Given the description of an element on the screen output the (x, y) to click on. 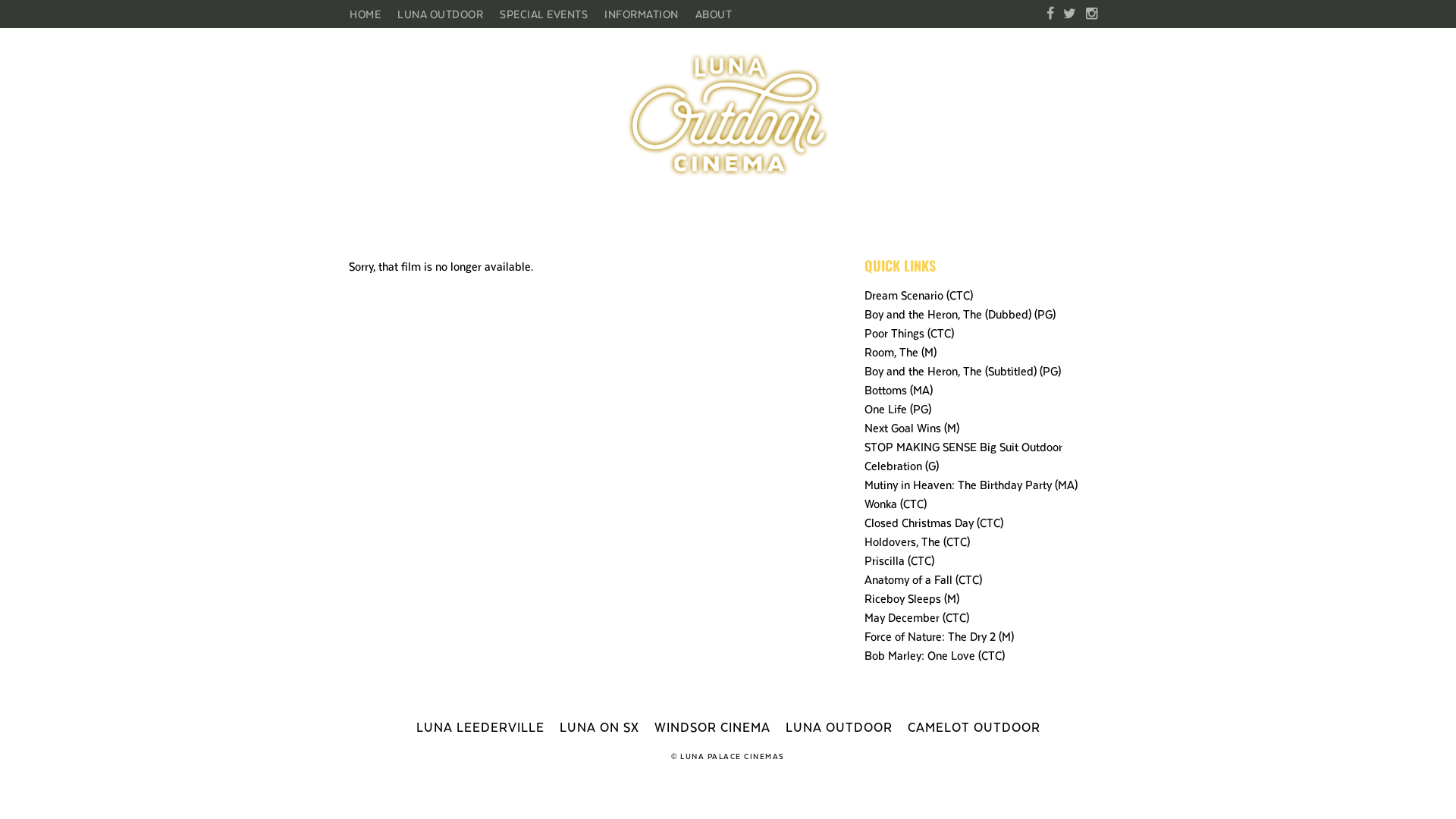
Force of Nature: The Dry 2 Element type: text (929, 635)
May December Element type: text (901, 616)
WINDSOR CINEMA Element type: text (711, 726)
Next Goal Wins Element type: text (902, 426)
Boy and the Heron, The (Subtitled) Element type: text (950, 369)
STOP MAKING SENSE Big Suit Outdoor Celebration Element type: text (963, 455)
Bottoms Element type: text (885, 388)
LUNA OUTDOOR Element type: text (839, 726)
Follow us on Instagram Element type: hover (1091, 13)
LUNA ON SX Element type: text (599, 726)
SPECIAL EVENTS Element type: text (543, 13)
Wonka Element type: text (880, 502)
Riceboy Sleeps Element type: text (902, 597)
HOME Element type: text (369, 13)
Follow us on Facebook Element type: hover (1049, 13)
One Life Element type: text (885, 407)
ABOUT Element type: text (713, 13)
Poor Things Element type: text (894, 332)
Anatomy of a Fall Element type: text (908, 578)
Mutiny in Heaven: The Birthday Party Element type: text (957, 483)
INFORMATION Element type: text (641, 13)
Priscilla Element type: text (884, 559)
LUNA OUTDOOR Element type: text (440, 13)
LUNA LEEDERVILLE Element type: text (479, 726)
Closed Christmas Day Element type: text (918, 521)
Holdovers, The Element type: text (902, 540)
Room, The Element type: text (891, 351)
Bob Marley: One Love Element type: text (919, 654)
CAMELOT OUTDOOR Element type: text (973, 726)
Dream Scenario Element type: text (903, 294)
Boy and the Heron, The (Dubbed) Element type: text (947, 313)
Follow us on Twitter Element type: hover (1069, 13)
